Given the description of an element on the screen output the (x, y) to click on. 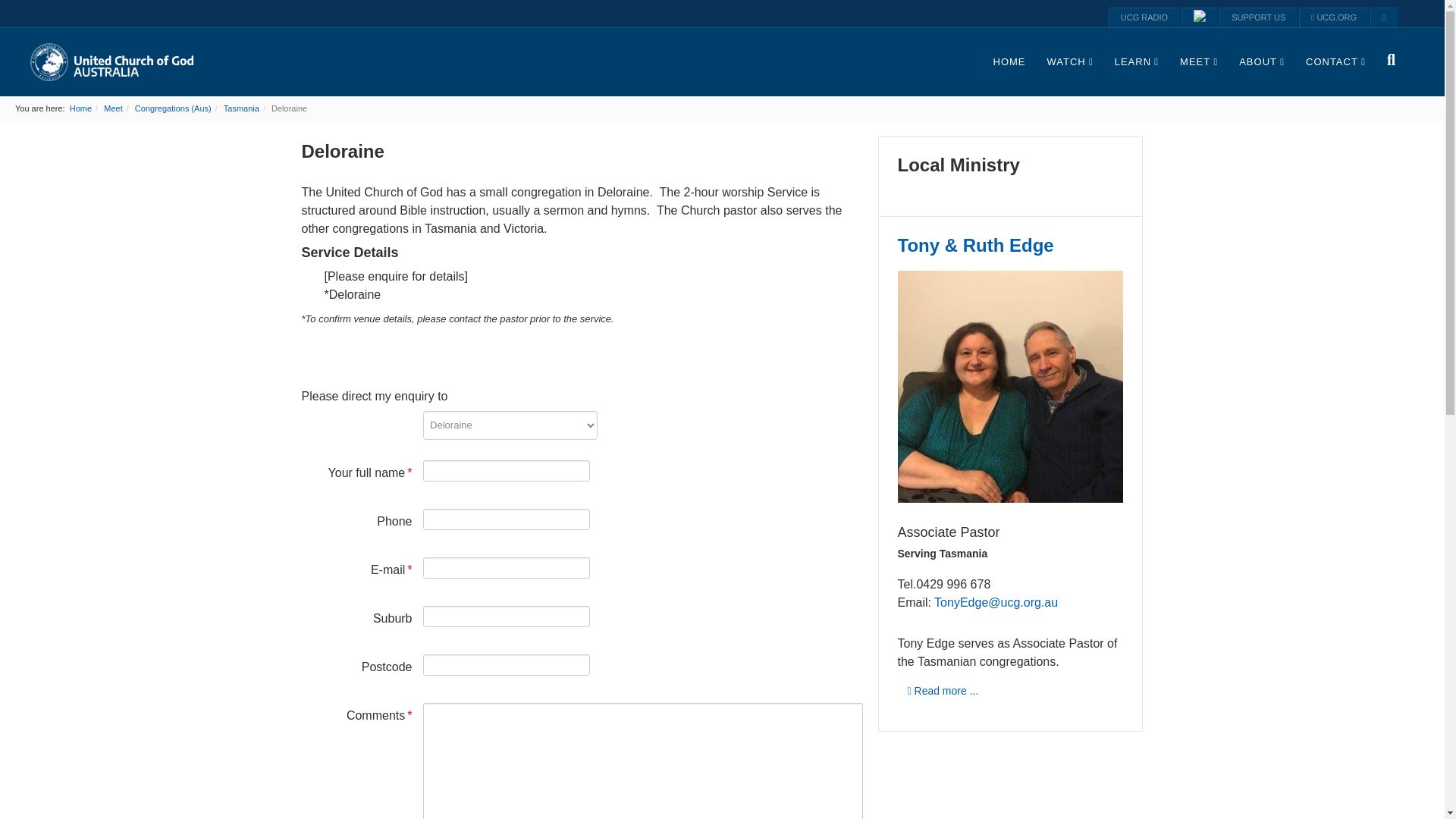
LEARN (1136, 61)
Watch (1069, 61)
SUPPORT US (1258, 17)
UCG.ORG (1333, 17)
UCG RADIO (1143, 17)
WATCH (1069, 61)
